Given the description of an element on the screen output the (x, y) to click on. 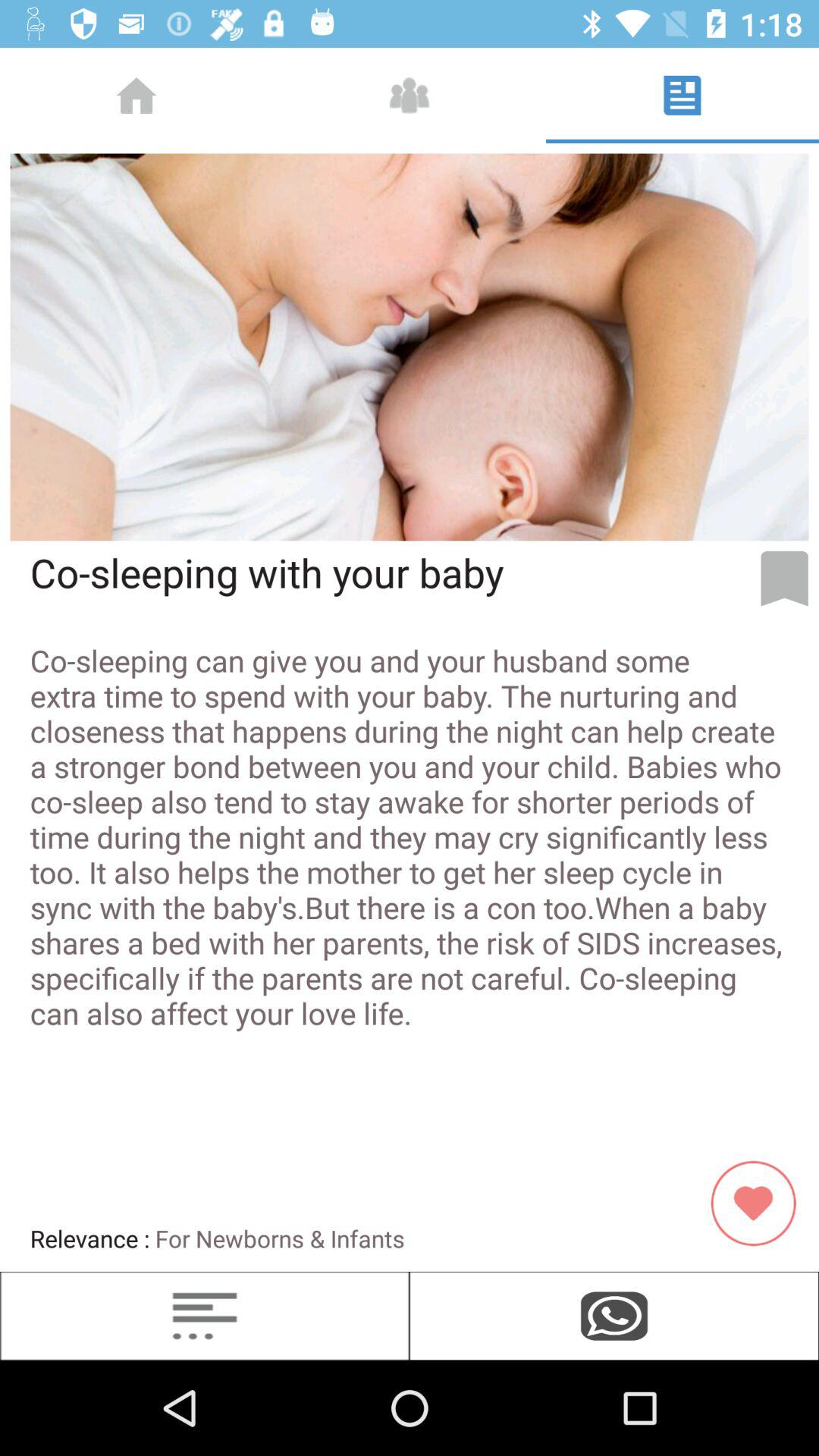
select the whatsapp logo at the bottom of the page (614, 1315)
select the button at top right (681, 95)
click on the bookmark icon (784, 577)
select the home button icon (136, 95)
